Given the description of an element on the screen output the (x, y) to click on. 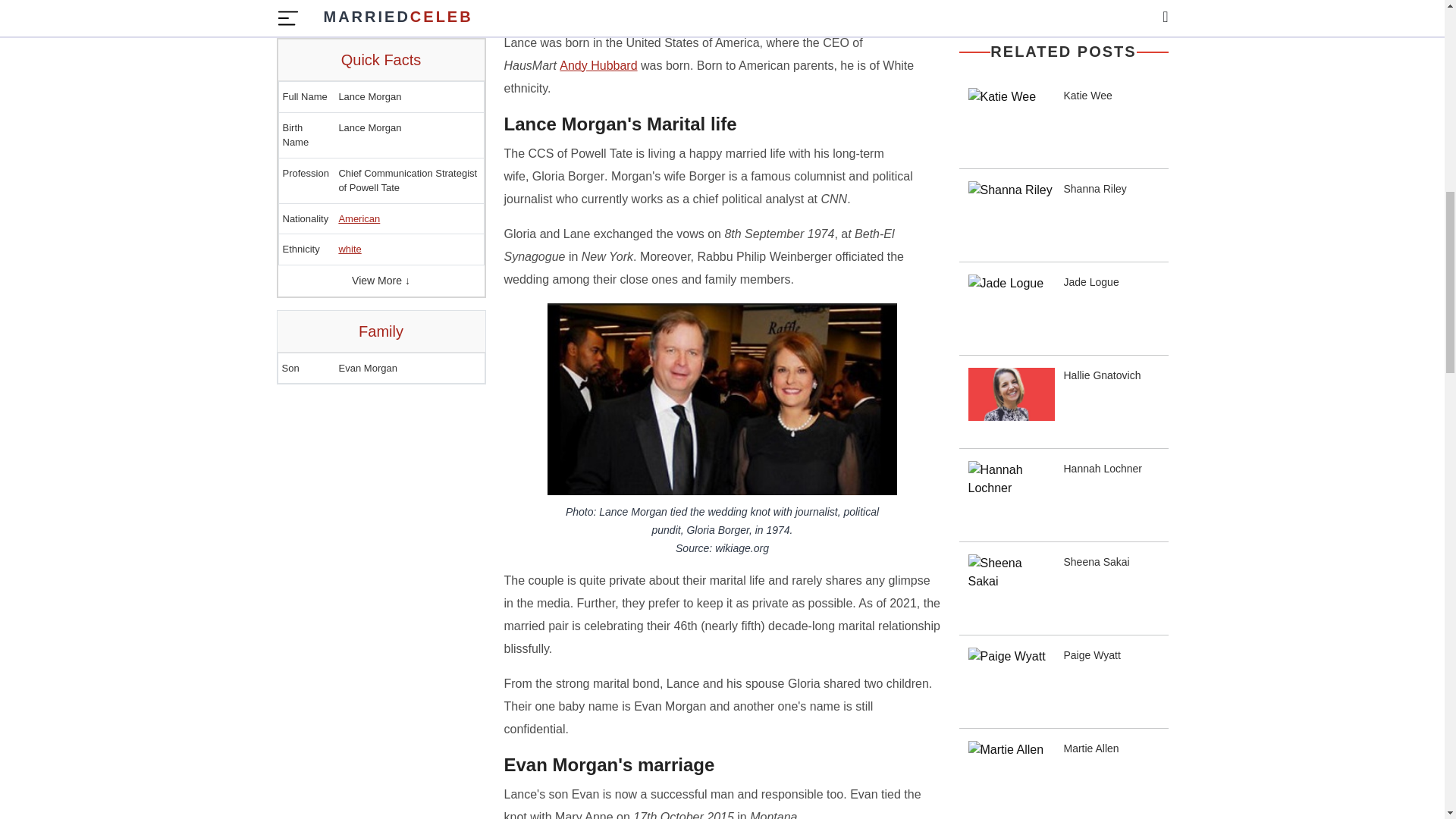
Andy Hubbard (598, 65)
white (349, 2)
